Given the description of an element on the screen output the (x, y) to click on. 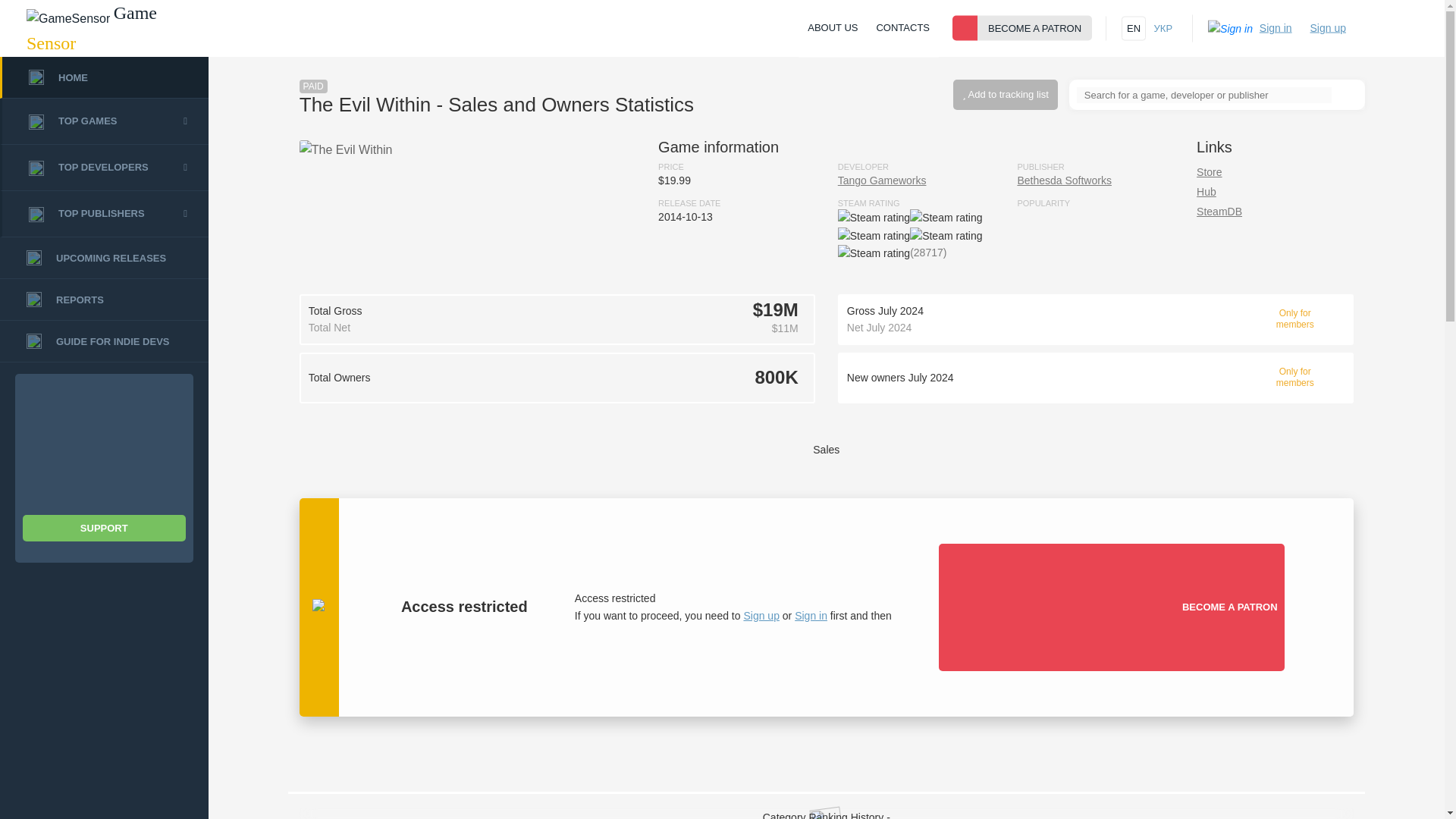
The Evil Within (346, 149)
Logo (68, 18)
TOP DEVELOPERS (104, 167)
Become a Patron (964, 28)
Game Sensor (104, 28)
Become a Patron (1058, 607)
TOP GAMES (104, 121)
HOME (104, 77)
